Given the description of an element on the screen output the (x, y) to click on. 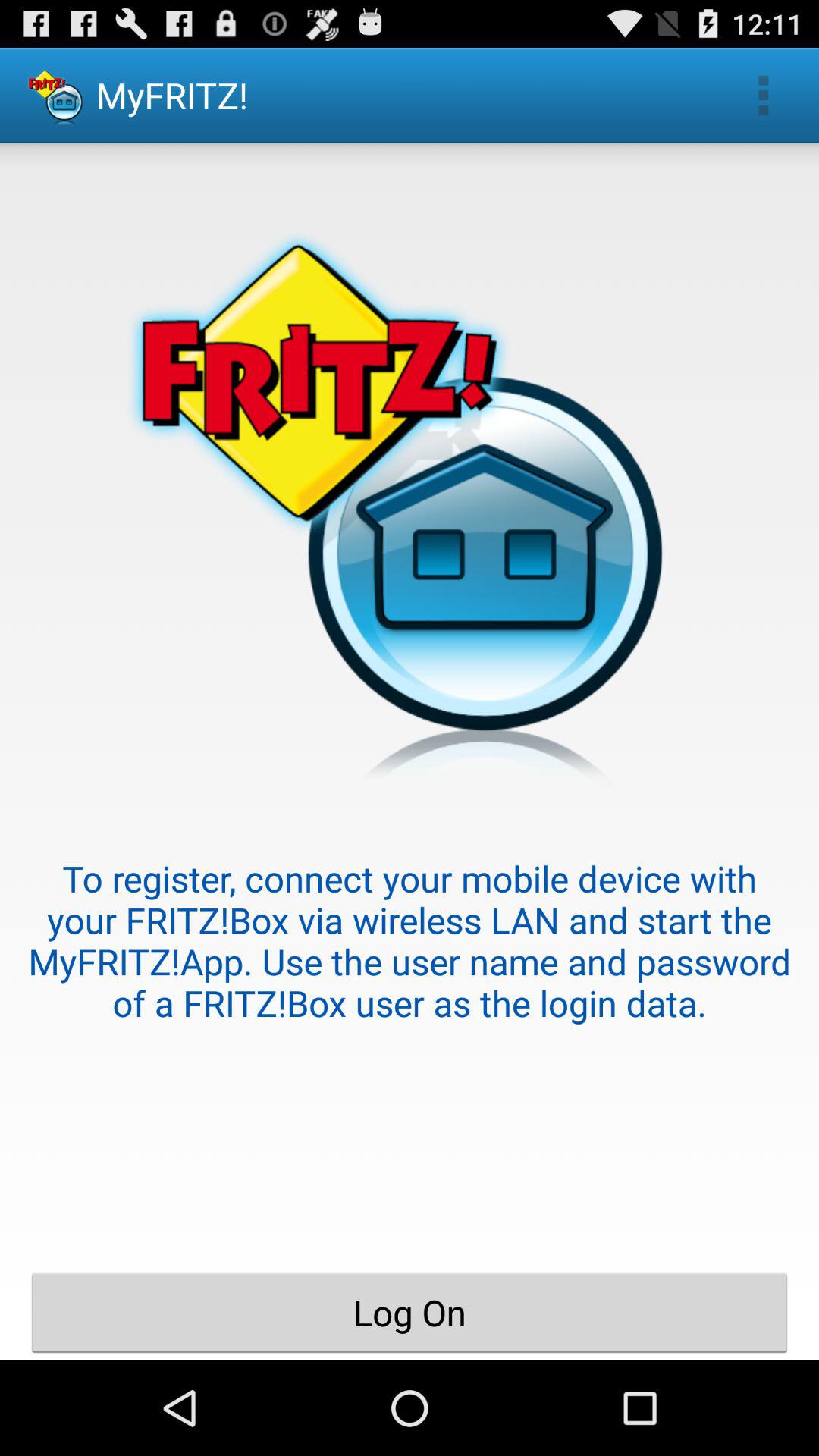
press the log on item (409, 1312)
